Given the description of an element on the screen output the (x, y) to click on. 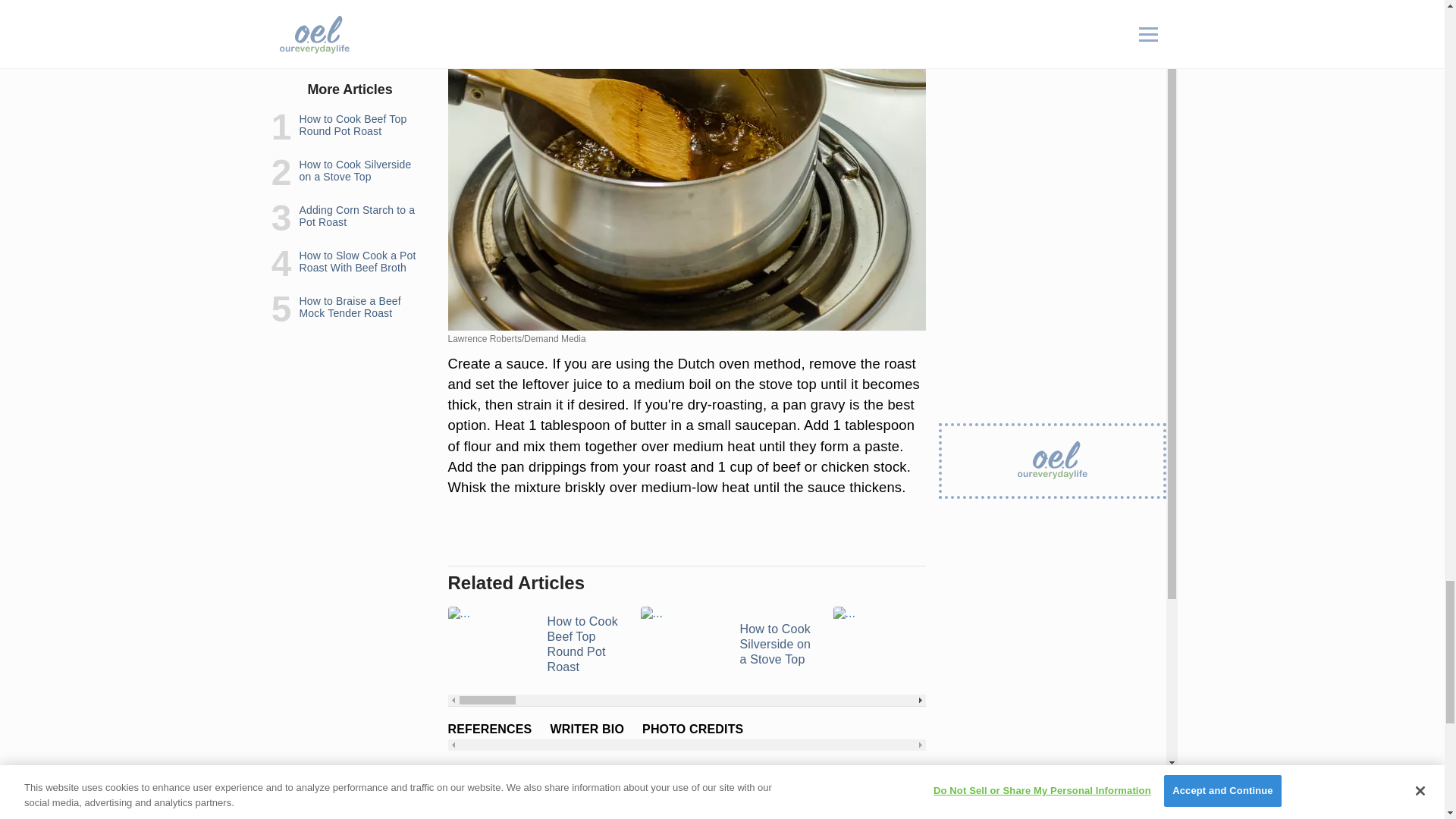
How to Slow Cook a Pot Roast With Beef ... (1112, 644)
Adding Corn Starch to a Pot Roast (919, 644)
How to Cook Beef Top Round Pot Roast (533, 644)
How to Cook Silverside on a Stove Top (726, 644)
How to Braise a Beef Mock Tender Roast (1304, 644)
